Given the description of an element on the screen output the (x, y) to click on. 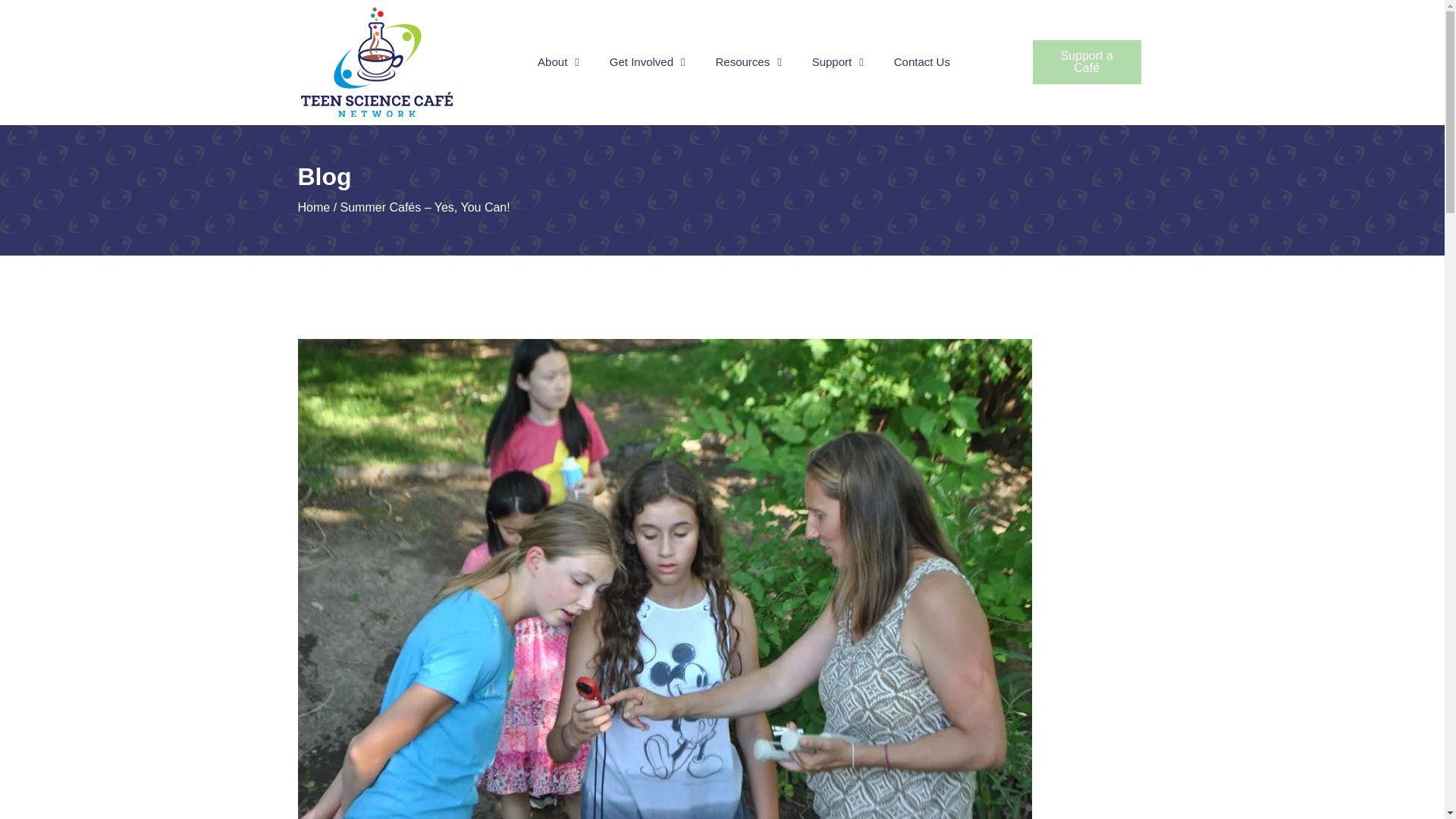
Contact Us (922, 62)
Resources (748, 62)
Get Involved (647, 62)
Support (837, 62)
